Given the description of an element on the screen output the (x, y) to click on. 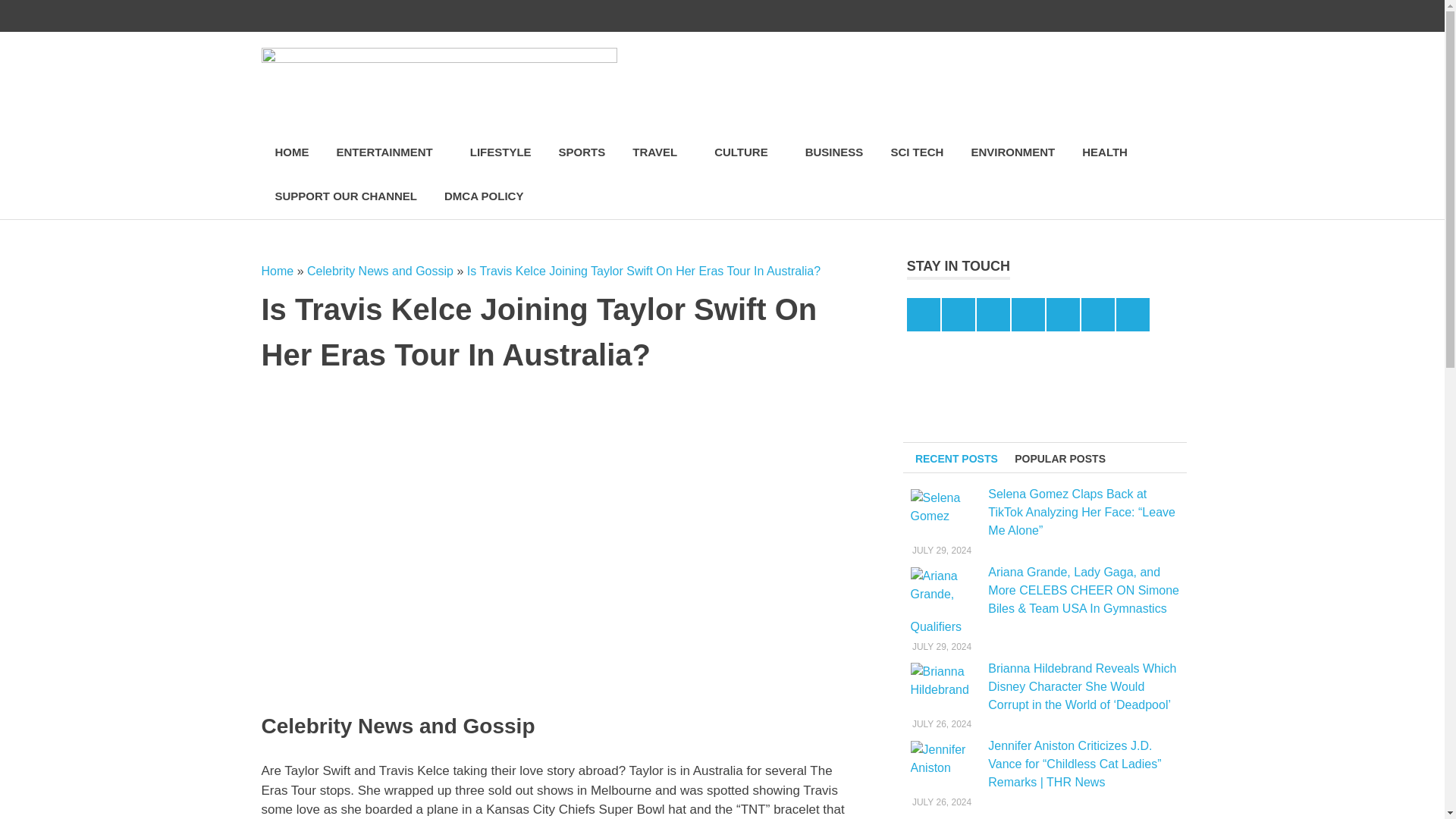
Instagram (1007, 15)
TRAVEL (659, 152)
Home (277, 270)
CULTURE (746, 152)
Celebrity News and Gossip (379, 270)
HOME (290, 152)
Celebrity News and Gossip (379, 270)
Telegram (1103, 15)
Telegram Group (1135, 15)
Facebook (975, 15)
BUSINESS (834, 152)
Pinterest (1039, 15)
DMCA POLICY (483, 196)
